Given the description of an element on the screen output the (x, y) to click on. 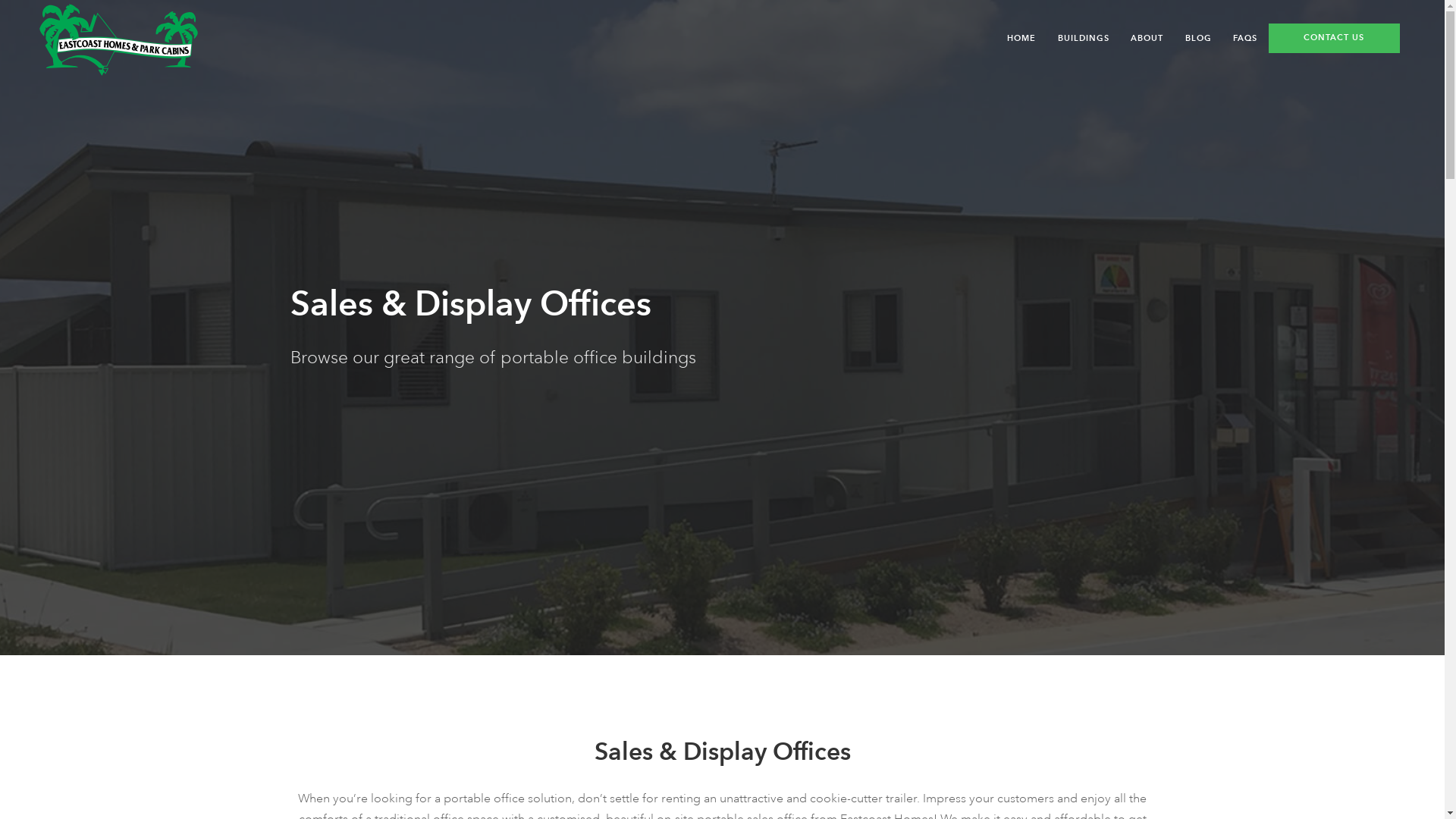
CONTACT US Element type: text (1333, 37)
FAQS Element type: text (1245, 37)
BLOG Element type: text (1197, 37)
ABOUT Element type: text (1147, 37)
BUILDINGS Element type: text (1083, 37)
HOME Element type: text (1026, 37)
